Given the description of an element on the screen output the (x, y) to click on. 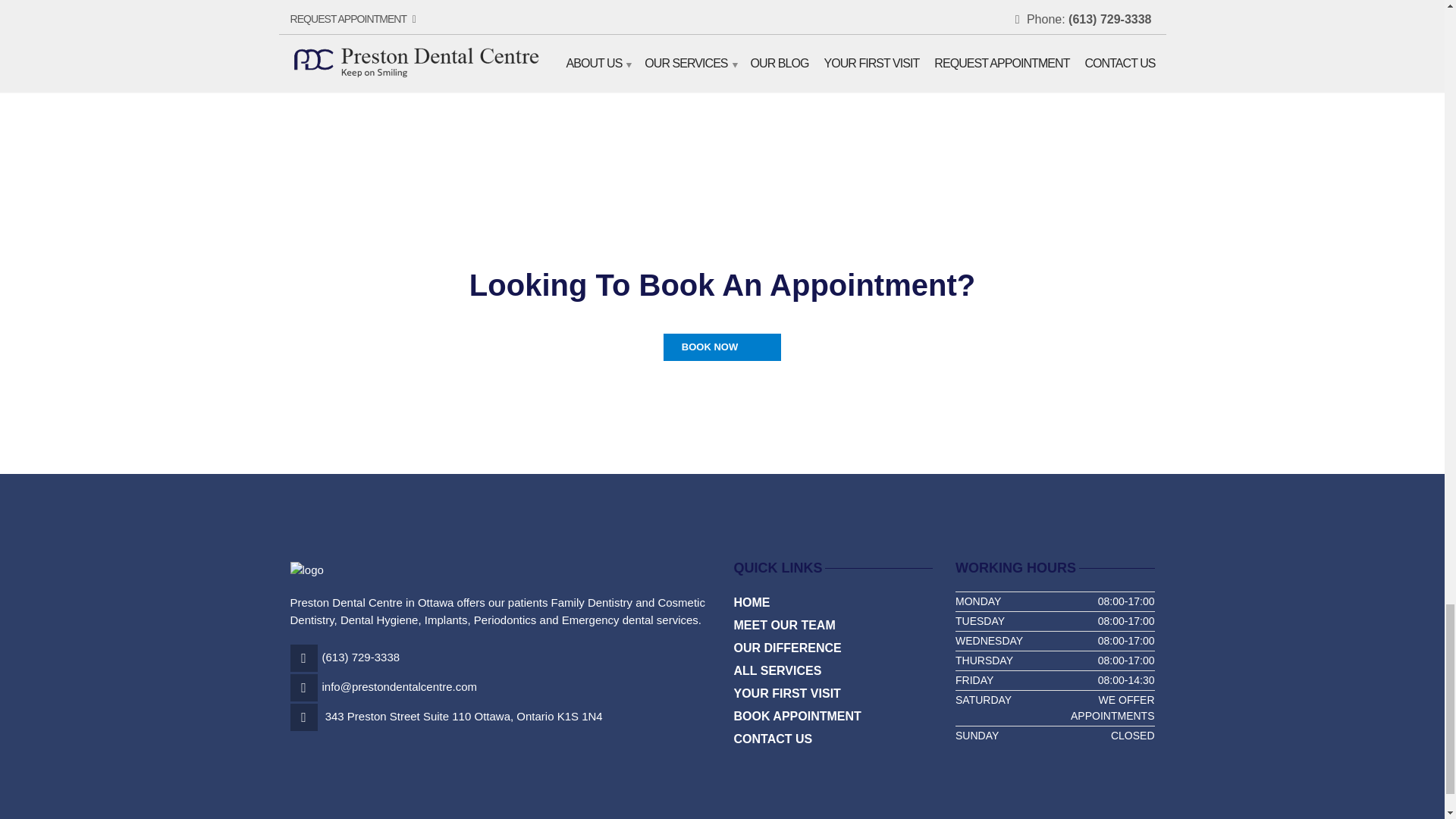
BOOK NOW (721, 347)
MEET OUR TEAM (784, 625)
YOUR FIRST VISIT (787, 693)
OUR DIFFERENCE (787, 648)
HOME (751, 602)
ALL SERVICES (777, 671)
